Given the description of an element on the screen output the (x, y) to click on. 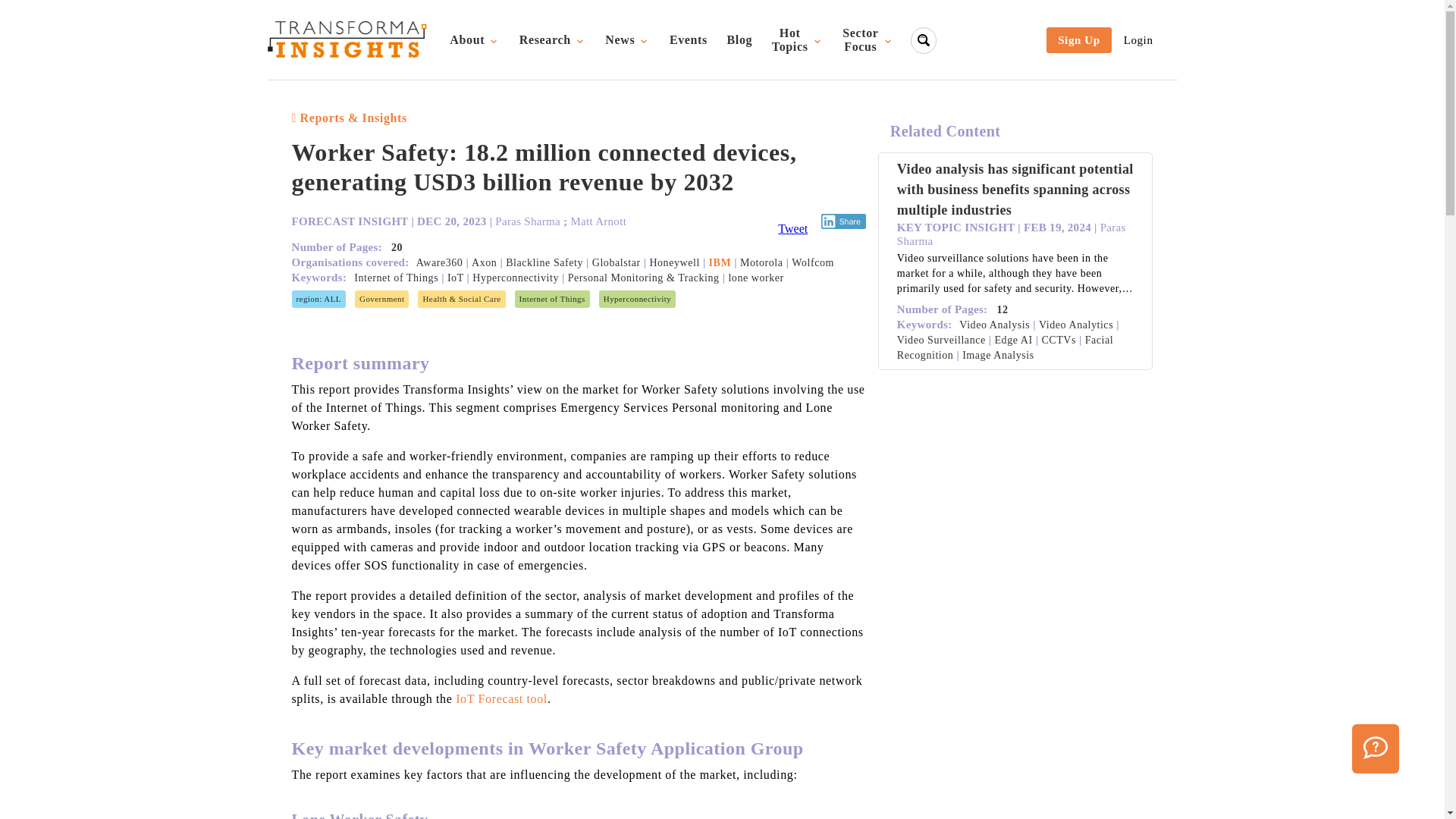
Blog (739, 40)
technology (796, 40)
Events (552, 298)
sector (688, 40)
Research (461, 298)
News (552, 40)
technology (628, 40)
About (636, 298)
